Given the description of an element on the screen output the (x, y) to click on. 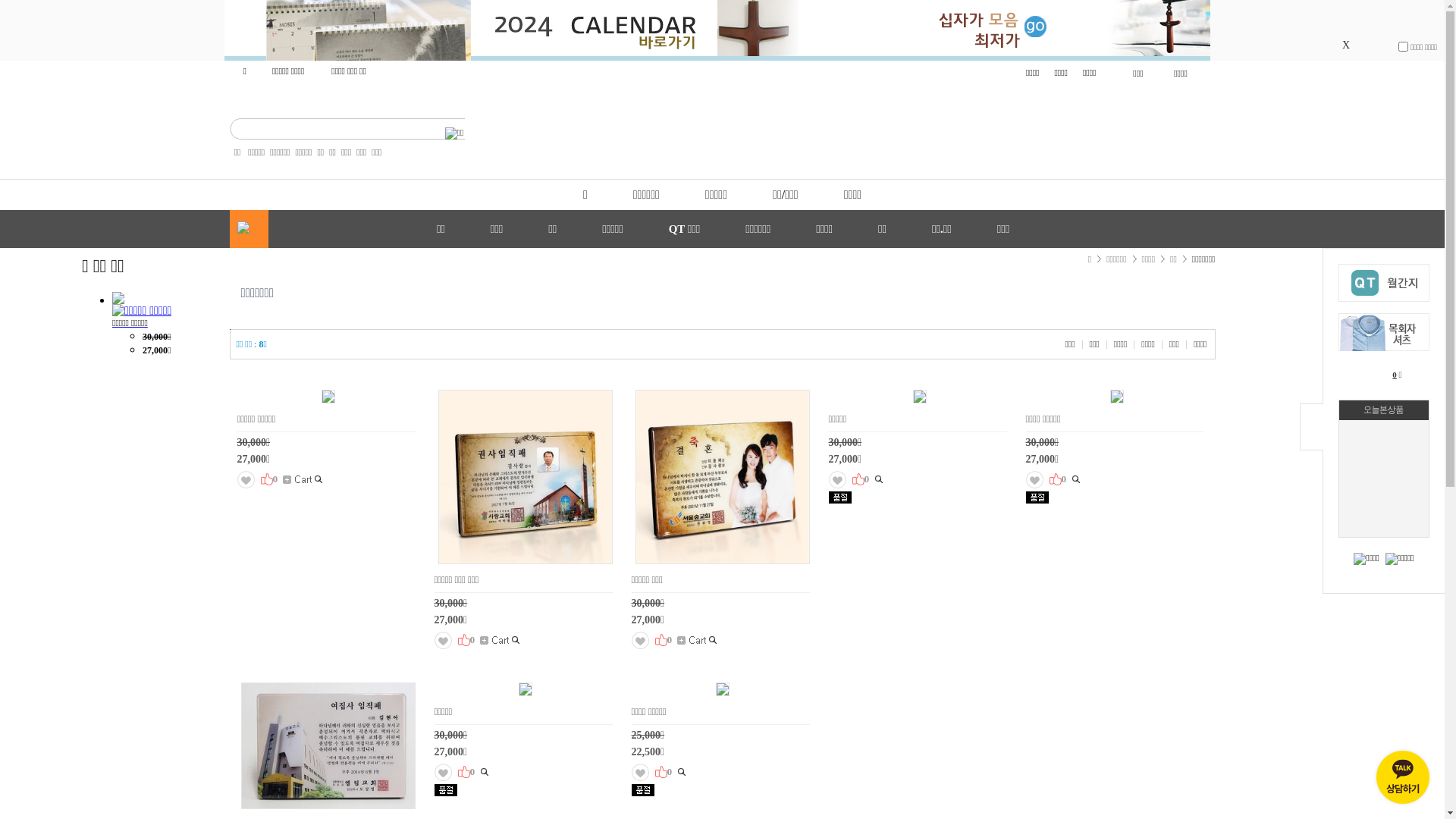
0 Element type: text (1057, 479)
0 Element type: text (466, 639)
0 Element type: text (663, 771)
0 Element type: text (860, 479)
0 Element type: text (466, 771)
0 Element type: text (663, 639)
0 Element type: text (1394, 374)
0 Element type: text (268, 479)
